Given the description of an element on the screen output the (x, y) to click on. 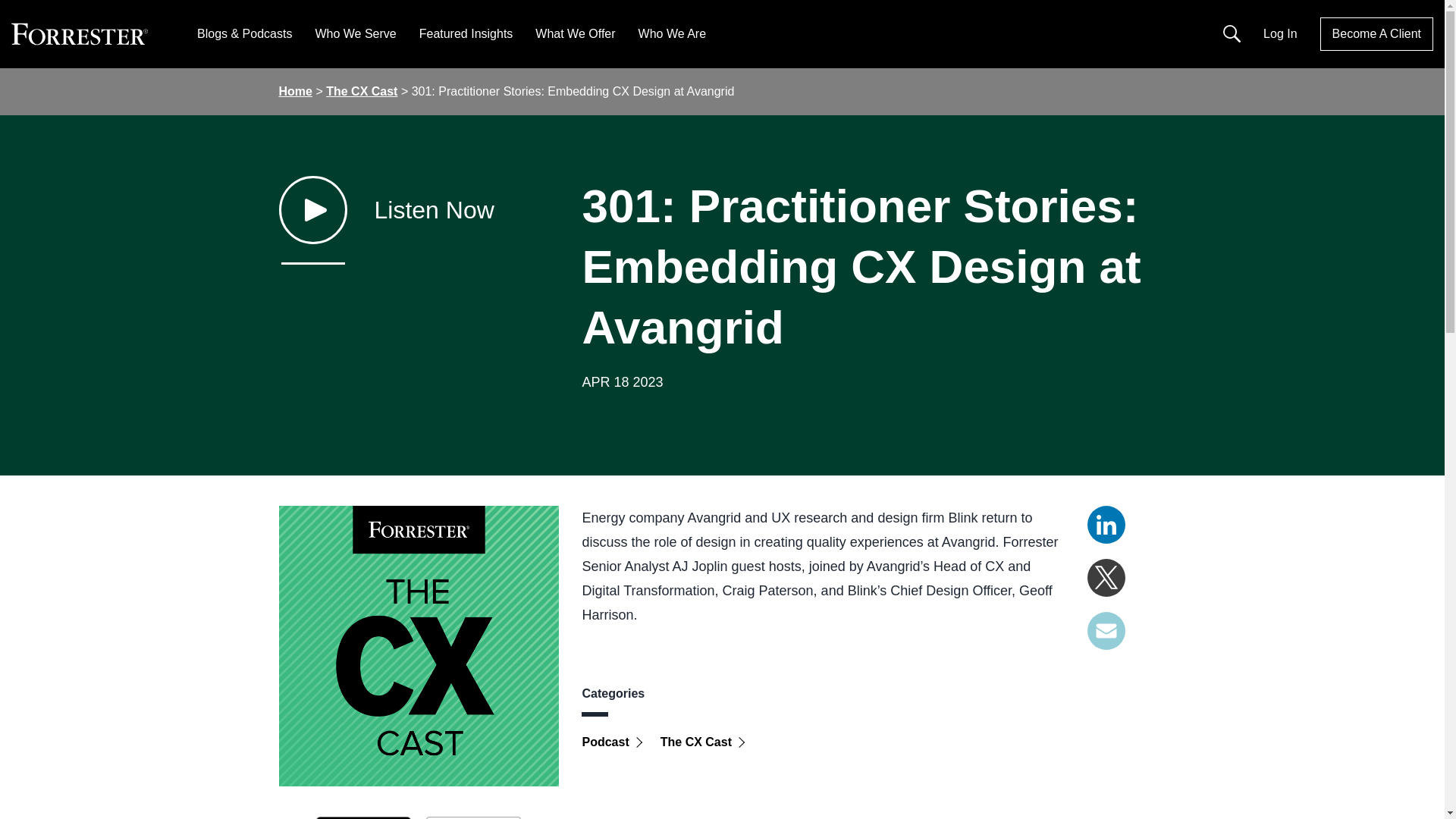
What We Offer (574, 33)
Who We Serve (355, 33)
Featured Insights (466, 33)
